Given the description of an element on the screen output the (x, y) to click on. 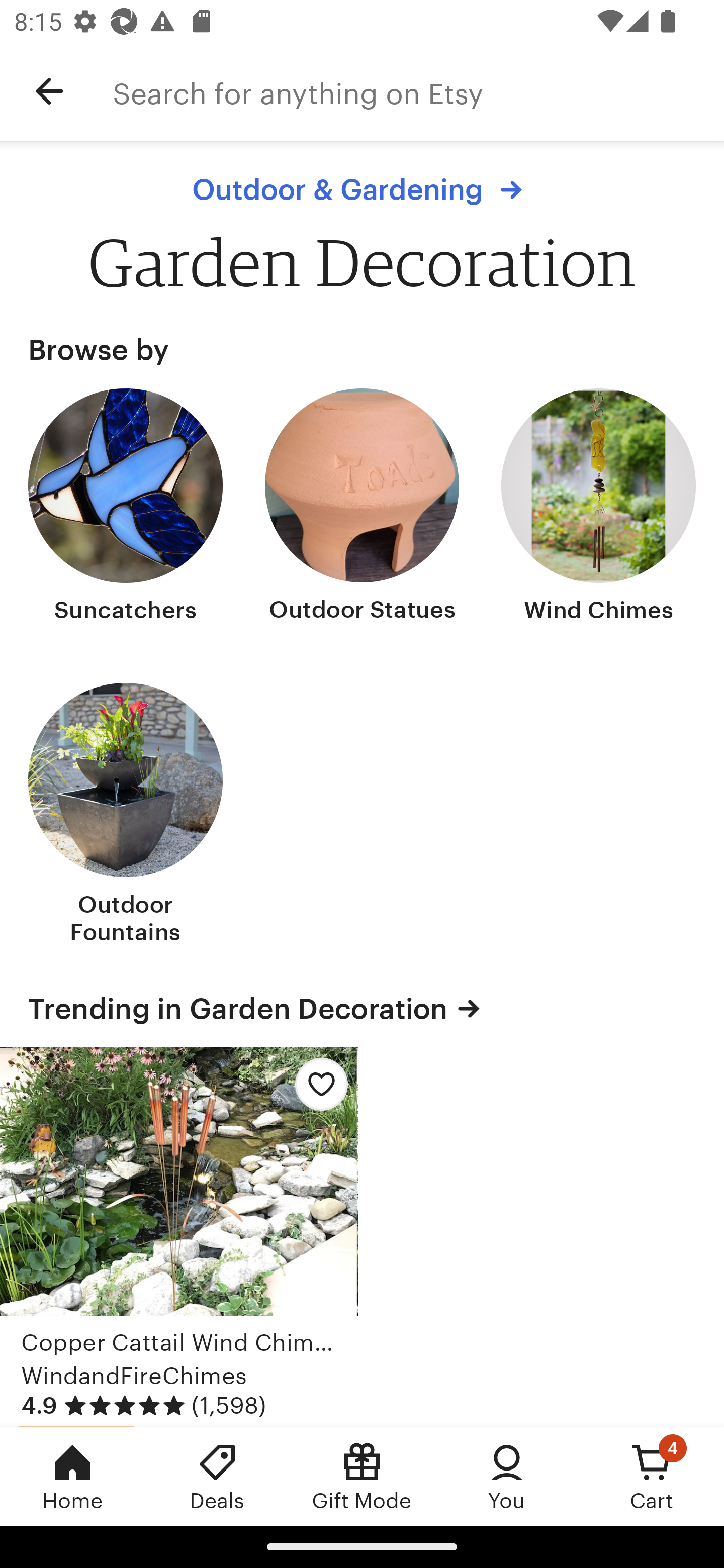
Navigate up (49, 91)
Search for anything on Etsy (418, 91)
Outdoor & Gardening (361, 189)
Suncatchers (125, 507)
Outdoor Statues (361, 507)
Wind Chimes (598, 507)
Outdoor Fountains (125, 815)
Trending in Garden Decoration  (361, 1008)
Add Copper Cattail Wind Chimes to favorites (315, 1089)
Deals (216, 1475)
Gift Mode (361, 1475)
You (506, 1475)
Cart, 4 new notifications Cart (651, 1475)
